Given the description of an element on the screen output the (x, y) to click on. 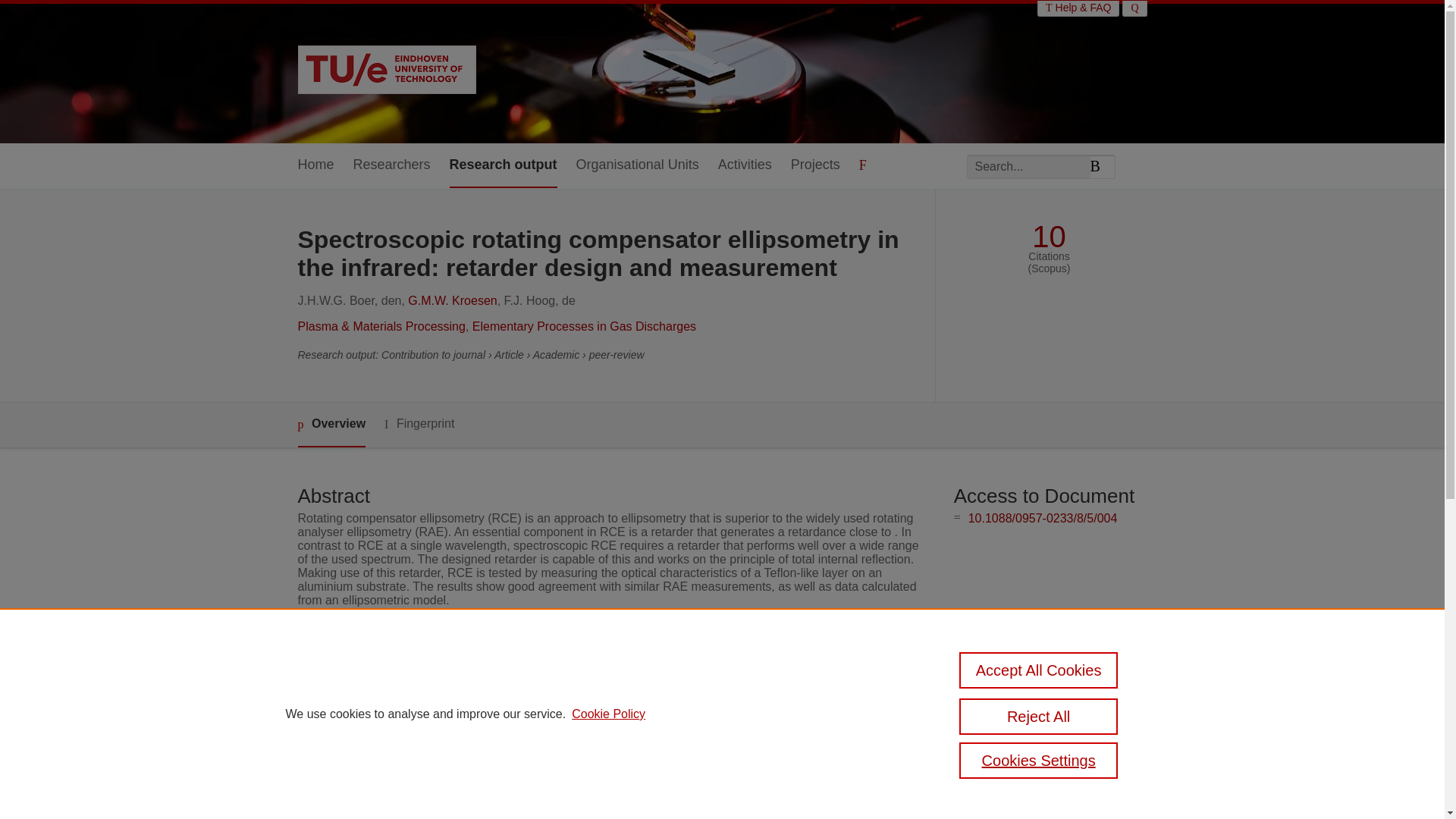
G.M.W. Kroesen (451, 300)
Measurement Science and Technology (611, 673)
Elementary Processes in Gas Discharges (583, 326)
Activities (744, 165)
Overview (331, 424)
Projects (815, 165)
Fingerprint (419, 423)
Organisational Units (637, 165)
Researchers (391, 165)
